Given the description of an element on the screen output the (x, y) to click on. 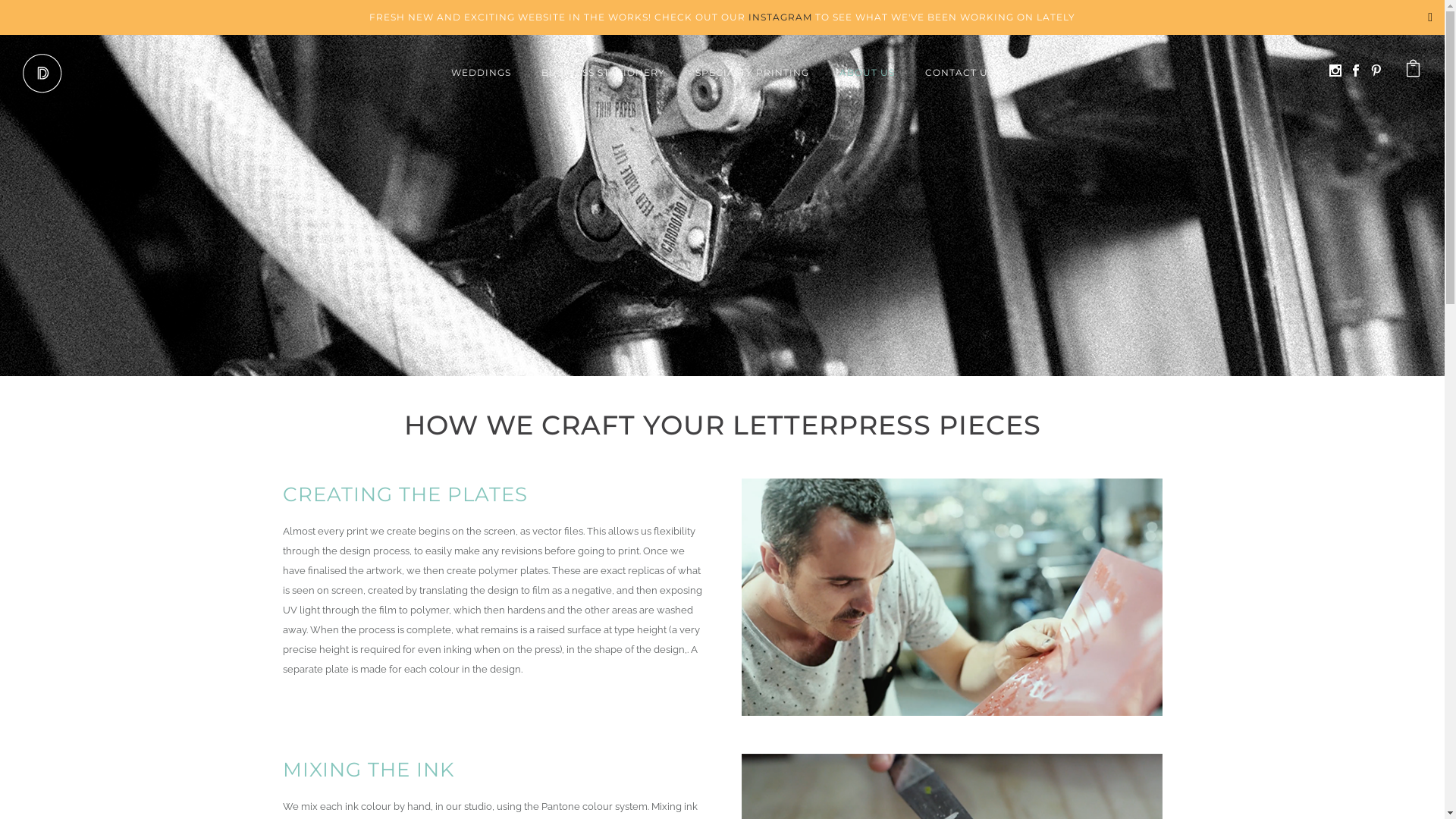
CONTACT US Element type: text (952, 72)
WEDDINGS Element type: text (487, 72)
SPECIALTY PRINTING Element type: text (751, 72)
INSTAGRAM Element type: text (780, 16)
ABOUT US Element type: text (866, 72)
BUSINESS STATIONERY Element type: text (603, 72)
View your shopping cart Element type: hover (1412, 72)
